Given the description of an element on the screen output the (x, y) to click on. 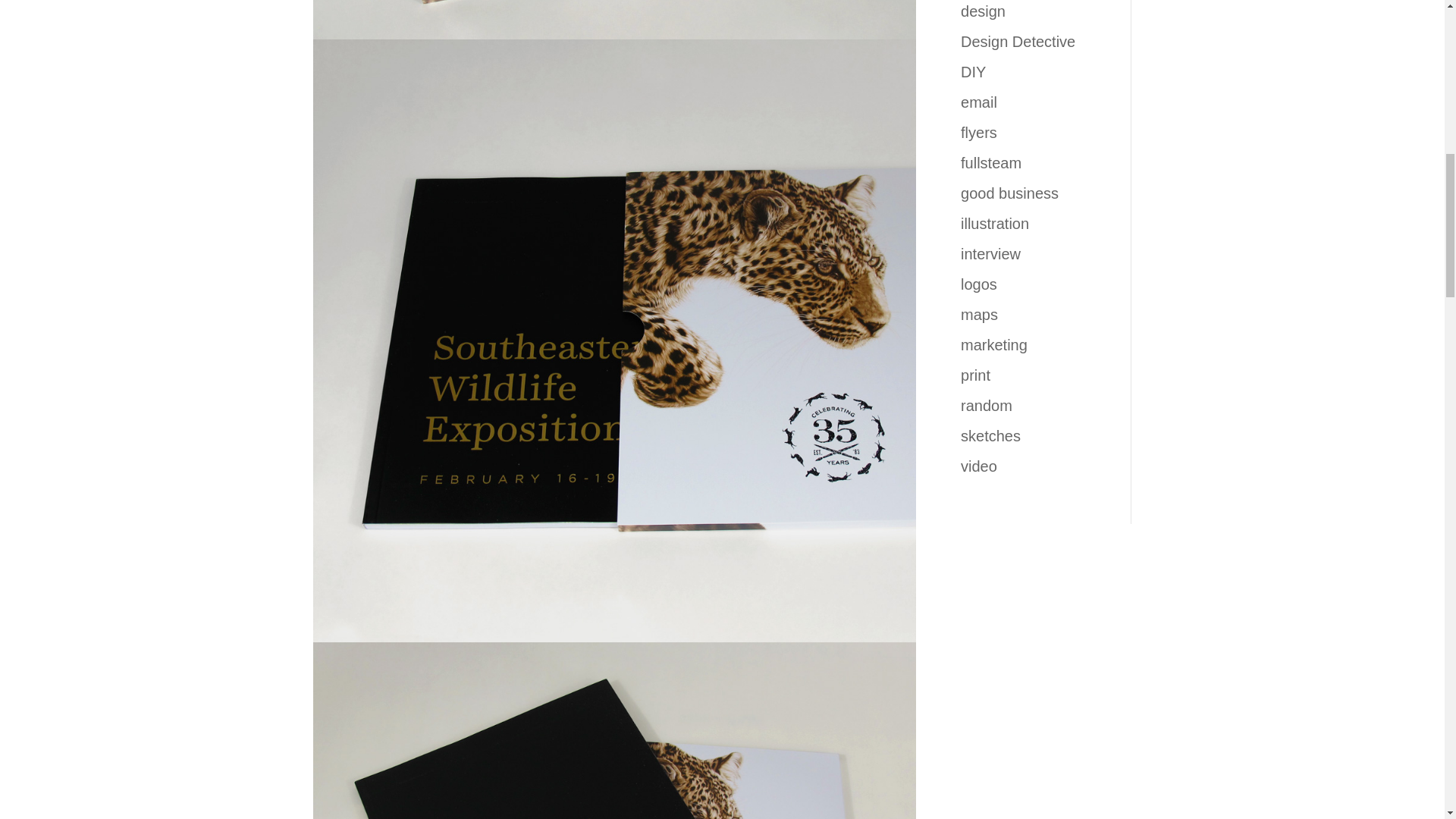
marketing (993, 344)
illustration (994, 223)
flyers (978, 132)
maps (978, 314)
fullsteam (991, 162)
good business (1009, 193)
Design Detective (1017, 41)
print (975, 375)
email (978, 102)
sketches (990, 435)
design (983, 11)
random (985, 405)
logos (978, 284)
interview (990, 253)
DIY (972, 71)
